Given the description of an element on the screen output the (x, y) to click on. 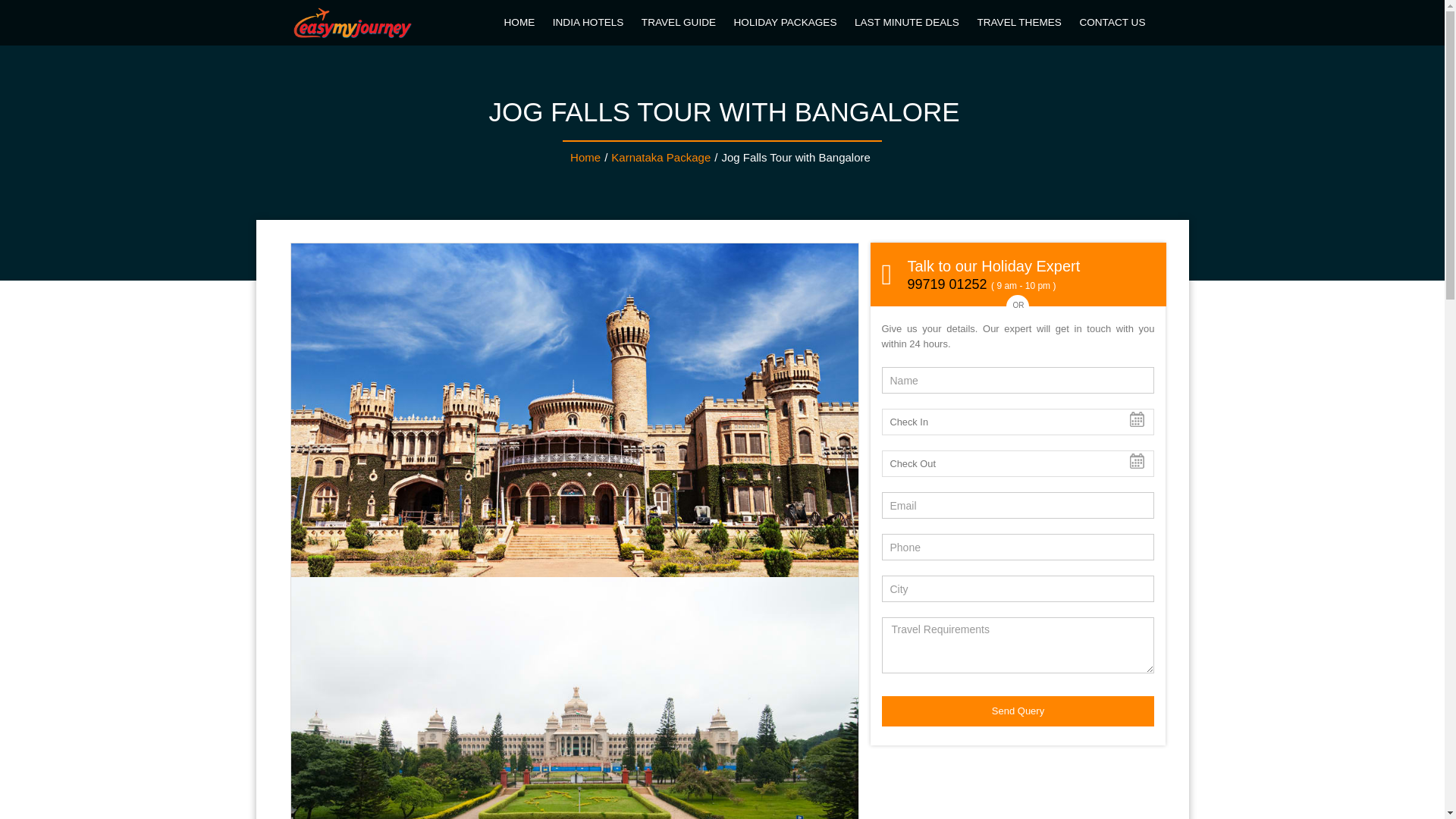
TRAVEL GUIDE (679, 22)
INDIA HOTELS (590, 22)
Send Query (1017, 711)
HOME (520, 22)
